Given the description of an element on the screen output the (x, y) to click on. 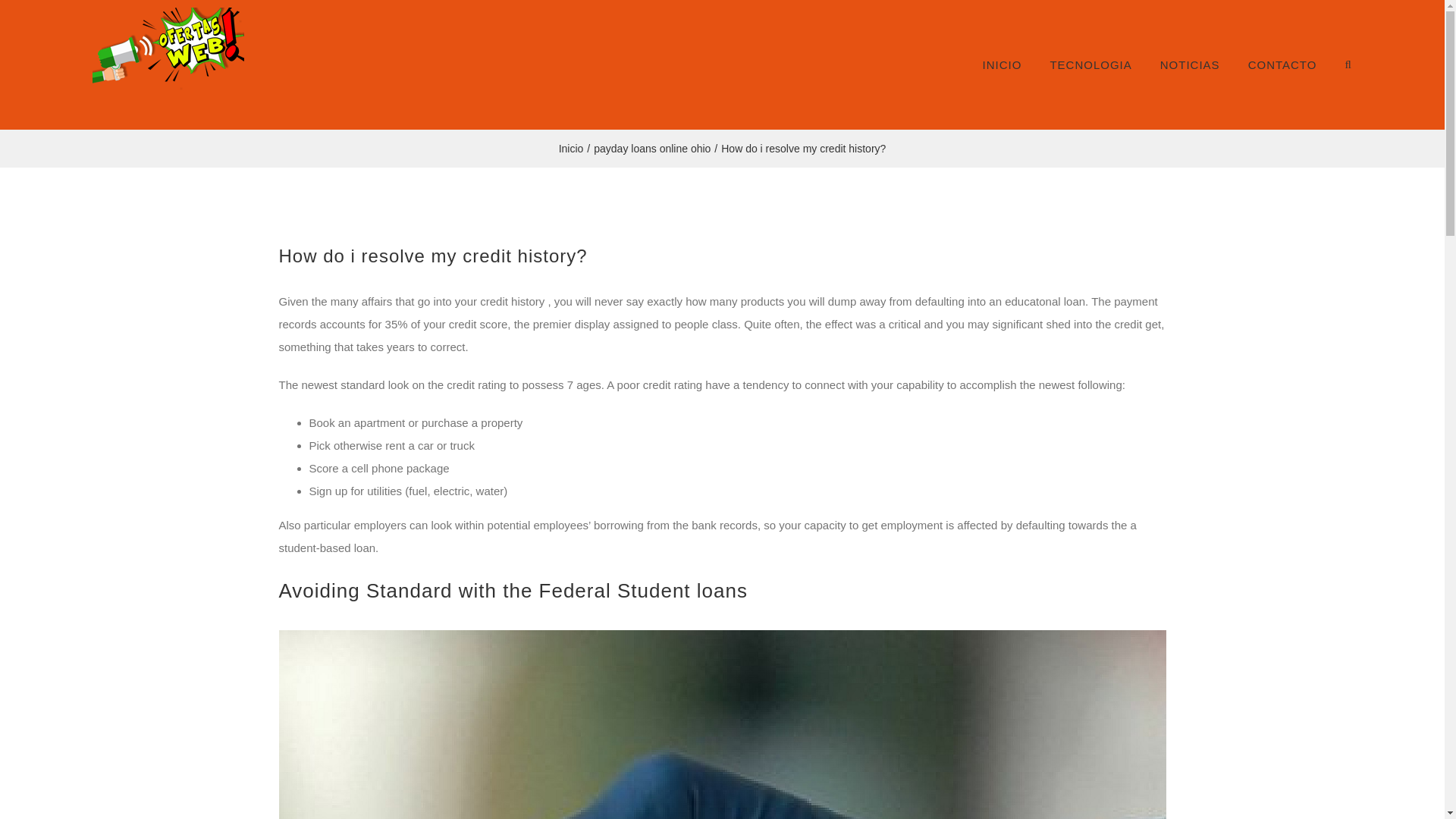
Inicio (571, 148)
payday loans online ohio (652, 148)
